Given the description of an element on the screen output the (x, y) to click on. 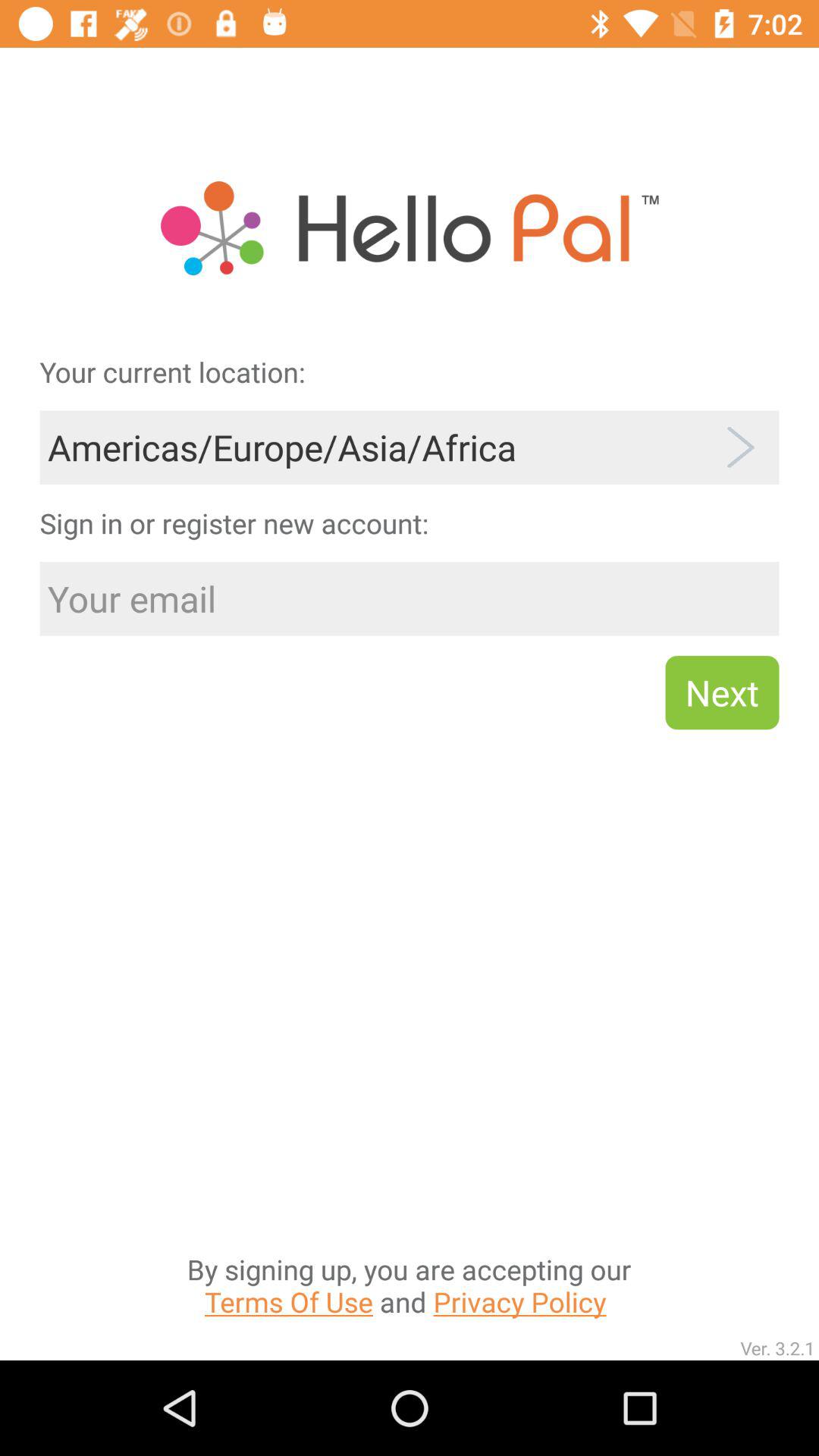
tap the next item (722, 692)
